Given the description of an element on the screen output the (x, y) to click on. 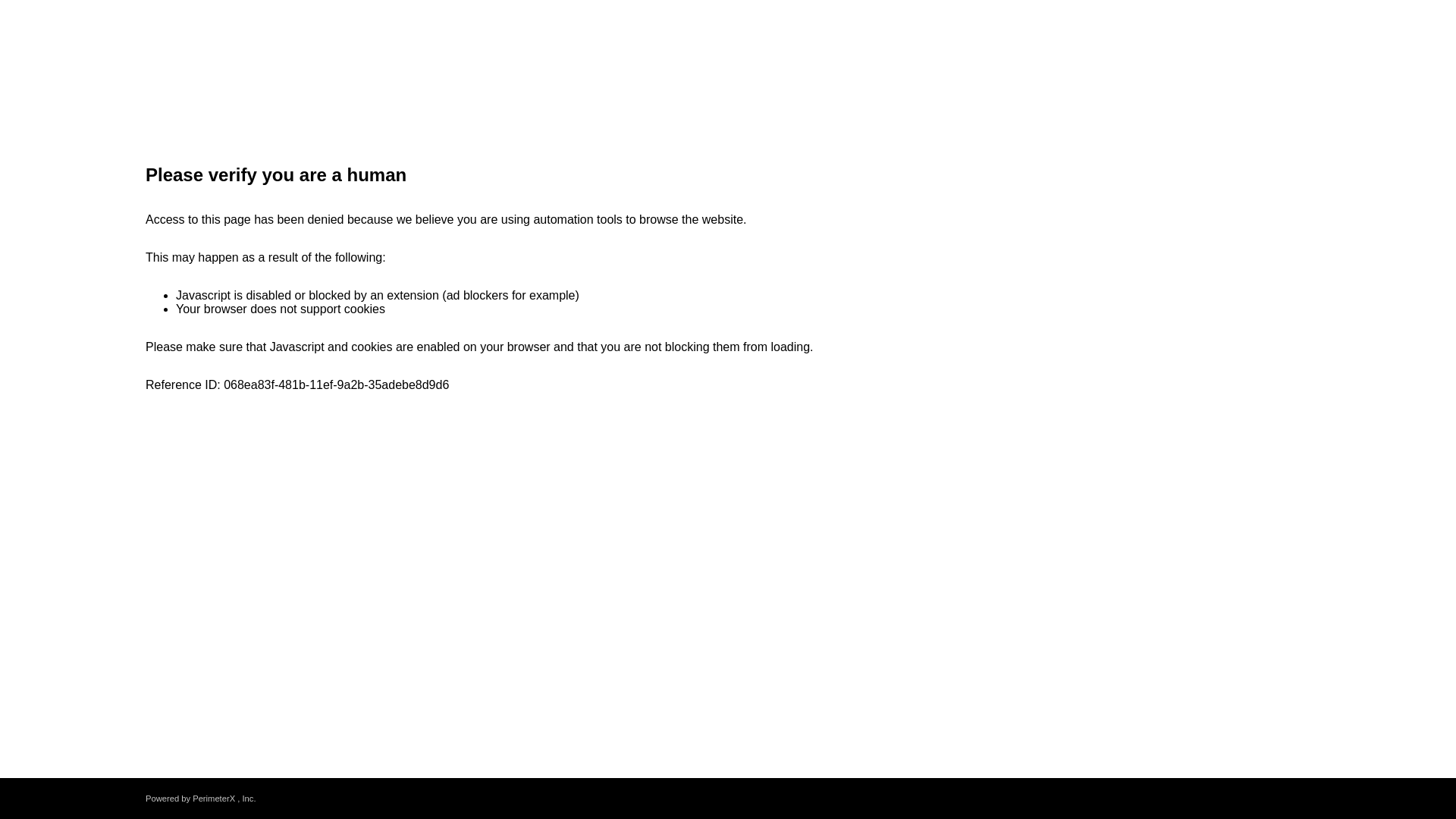
PerimeterX (213, 798)
